Given the description of an element on the screen output the (x, y) to click on. 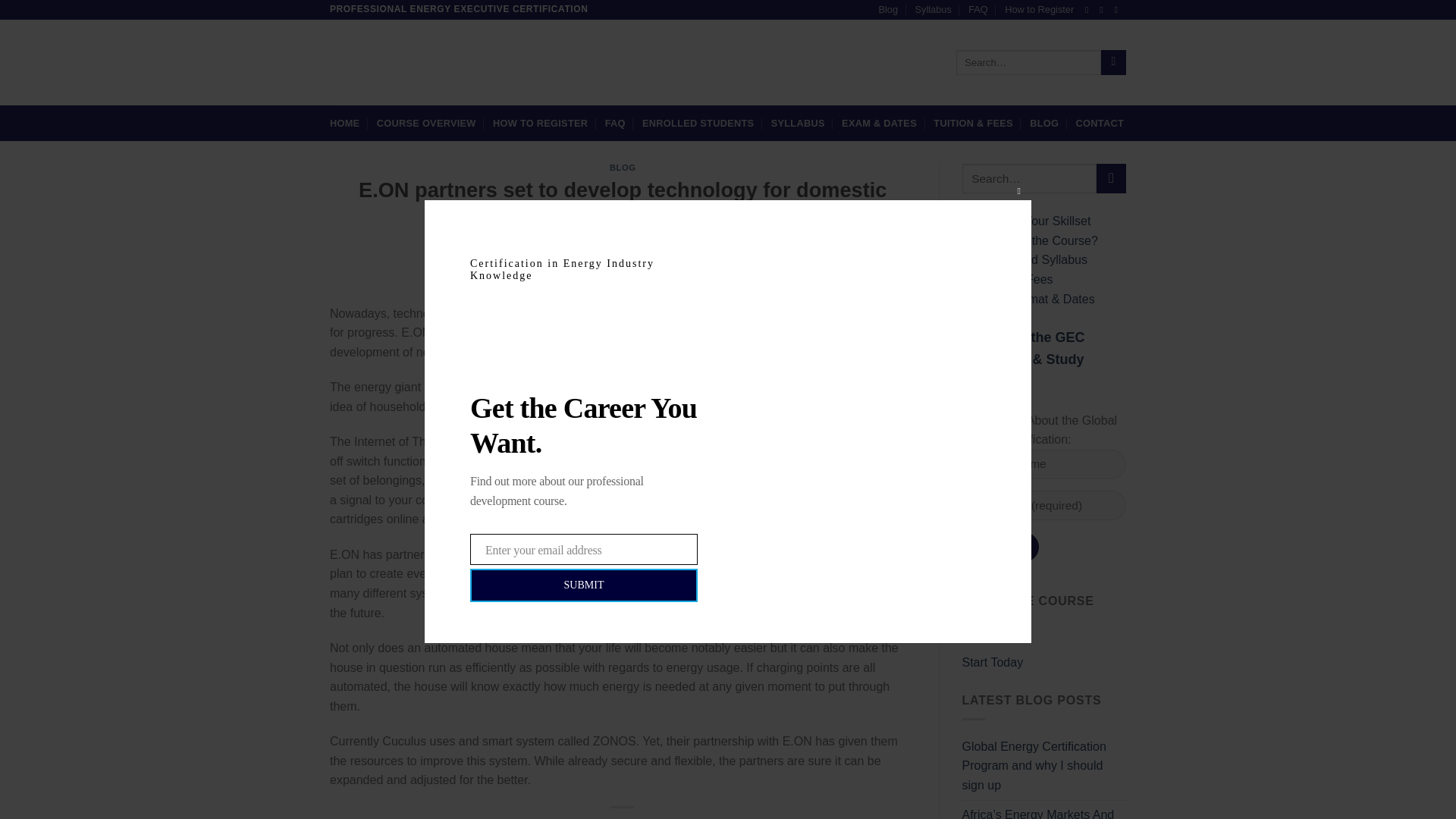
BLOG (623, 166)
FAQ (978, 9)
SYLLABUS (798, 122)
Submit (999, 546)
Blog (887, 9)
How to Register (1039, 9)
OCTOBER 30, 2017 (633, 261)
GEC (702, 261)
HOW TO REGISTER (540, 122)
Syllabus (932, 9)
COURSE OVERVIEW (426, 122)
ENROLLED STUDENTS (698, 122)
CONTACT (1099, 122)
